Given the description of an element on the screen output the (x, y) to click on. 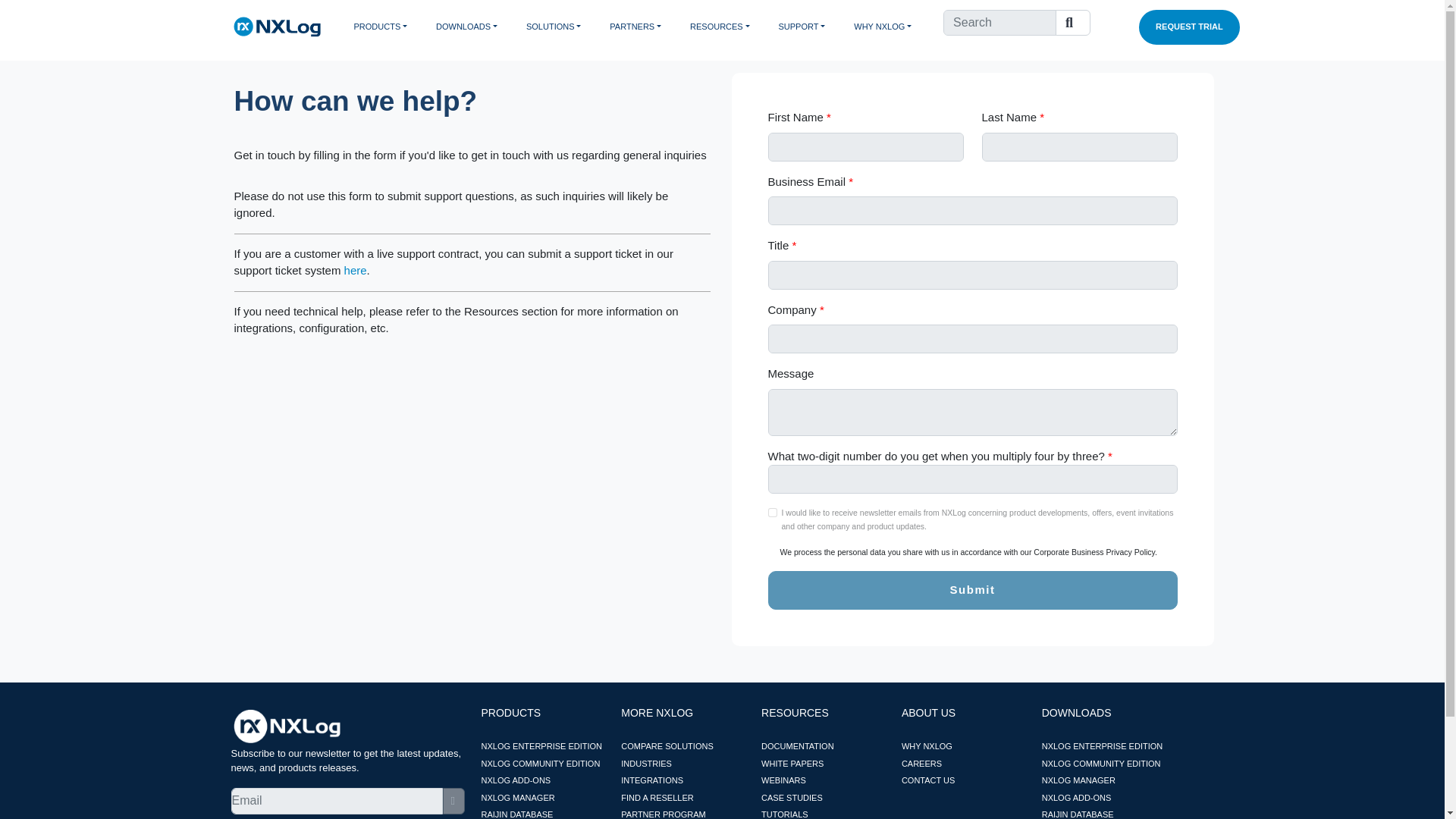
SOLUTIONS (561, 26)
DOWNLOADS (474, 26)
on (771, 511)
PRODUCTS (388, 26)
RESOURCES (727, 26)
PARTNERS (644, 26)
